Given the description of an element on the screen output the (x, y) to click on. 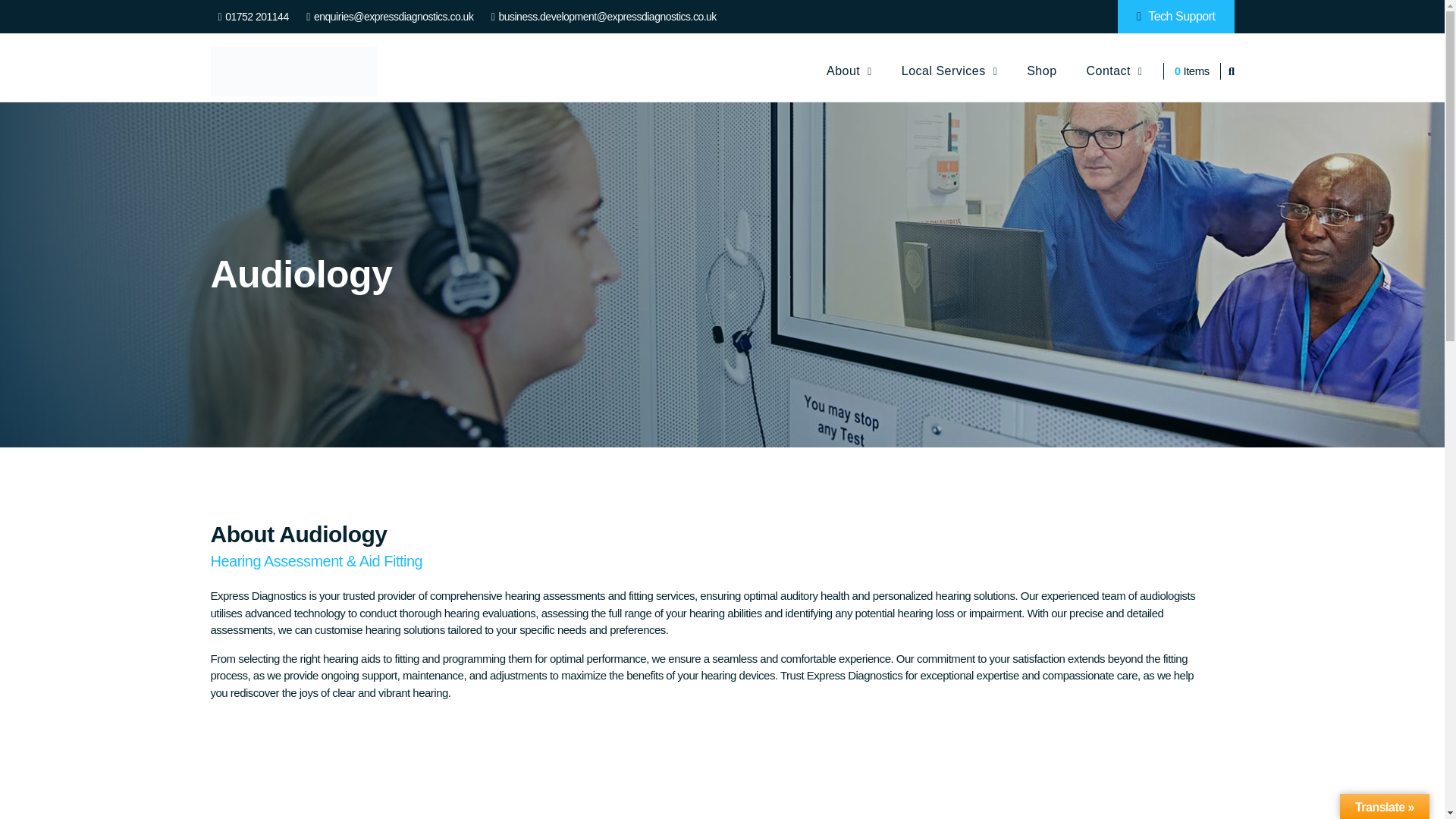
01752 201144 (254, 16)
Local Services (949, 70)
Tech Support (1176, 16)
About (849, 70)
